Given the description of an element on the screen output the (x, y) to click on. 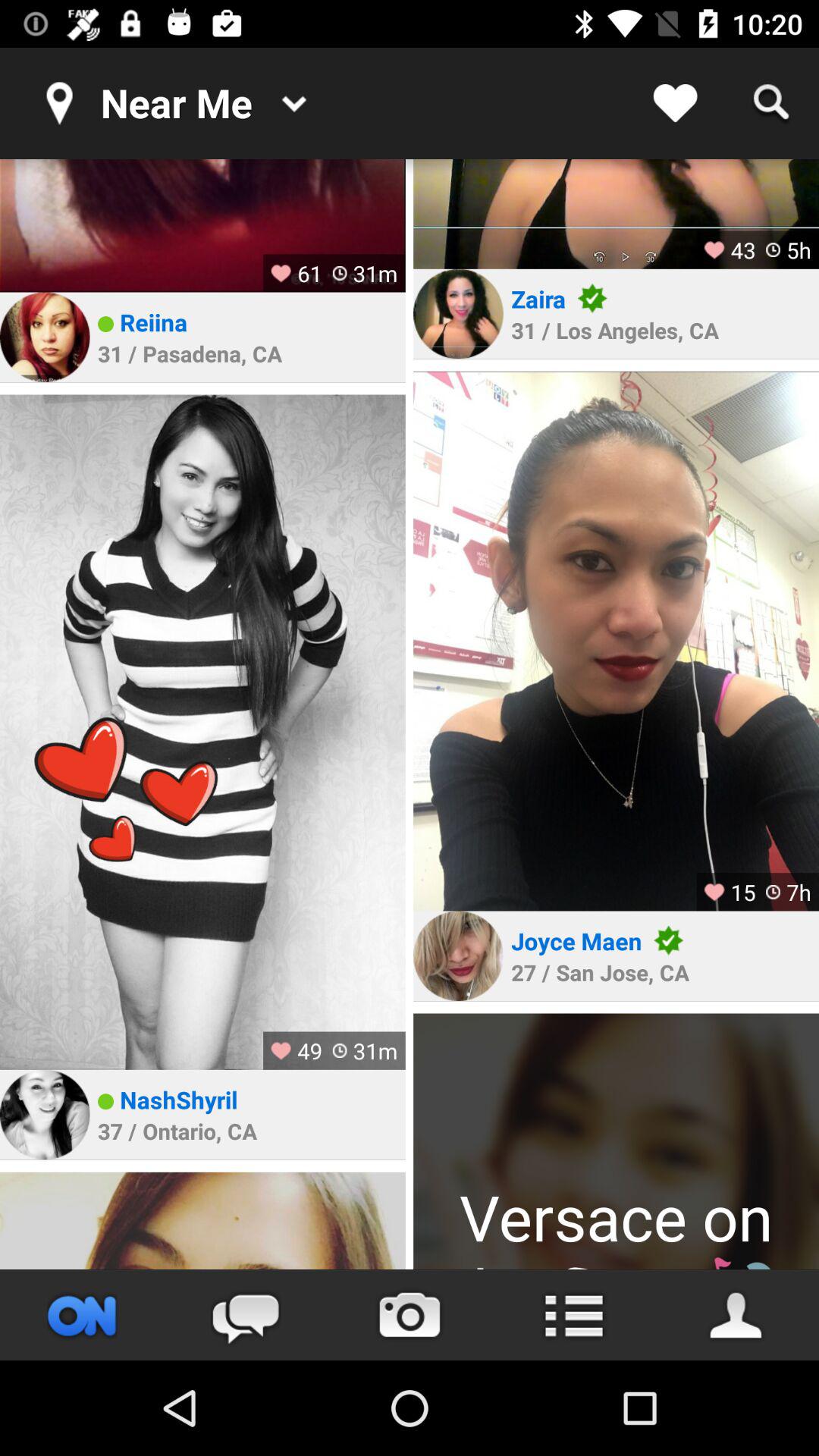
profile picture to go to person 's profile (44, 1114)
